Given the description of an element on the screen output the (x, y) to click on. 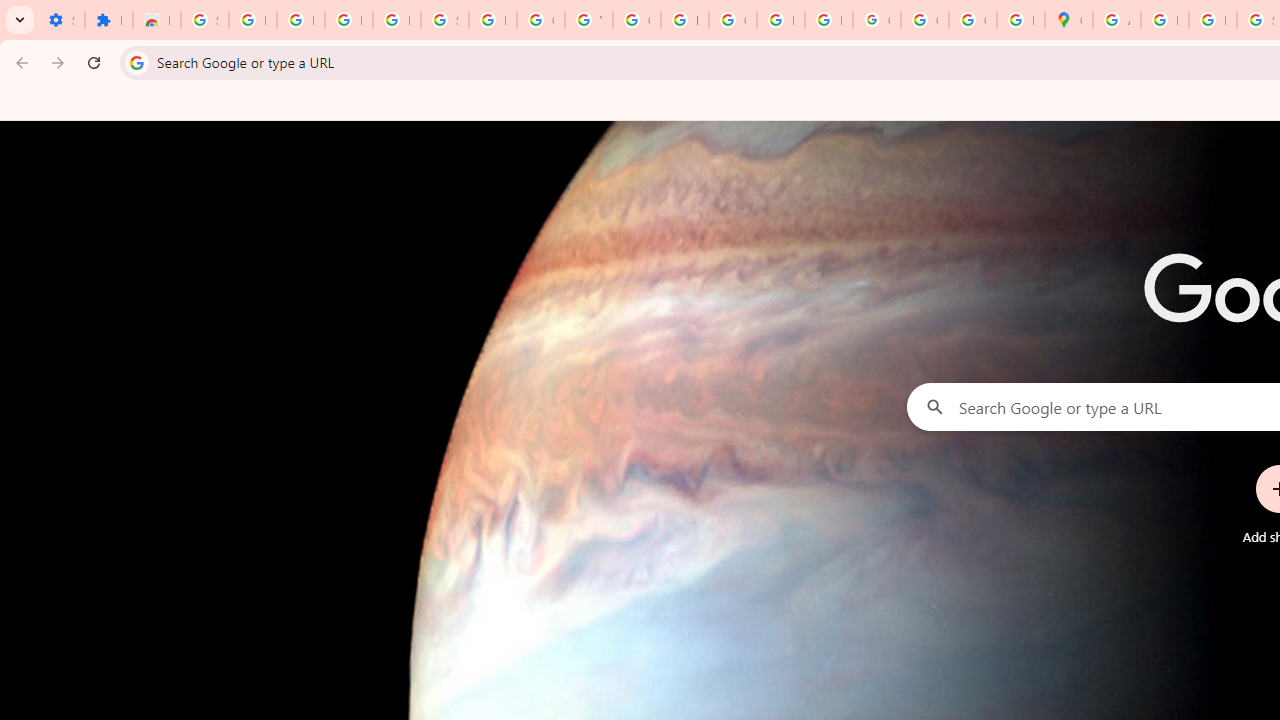
Settings - On startup (60, 20)
